Given the description of an element on the screen output the (x, y) to click on. 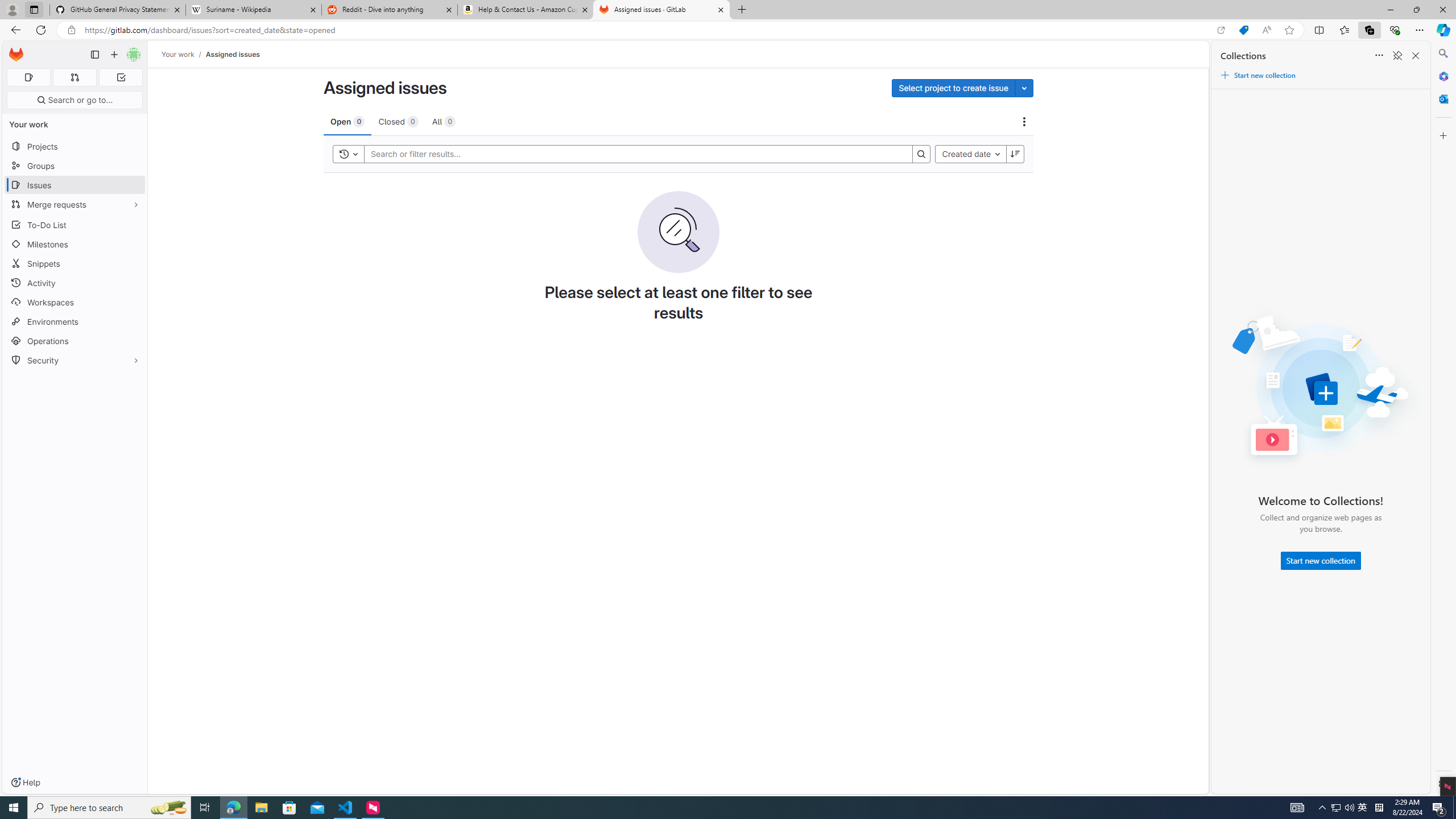
Activity (74, 282)
Groups (74, 165)
Operations (74, 340)
Projects (74, 145)
Side bar (1443, 418)
To-Do List (74, 224)
Start new collection (1321, 560)
Suriname - Wikipedia (253, 9)
